Given the description of an element on the screen output the (x, y) to click on. 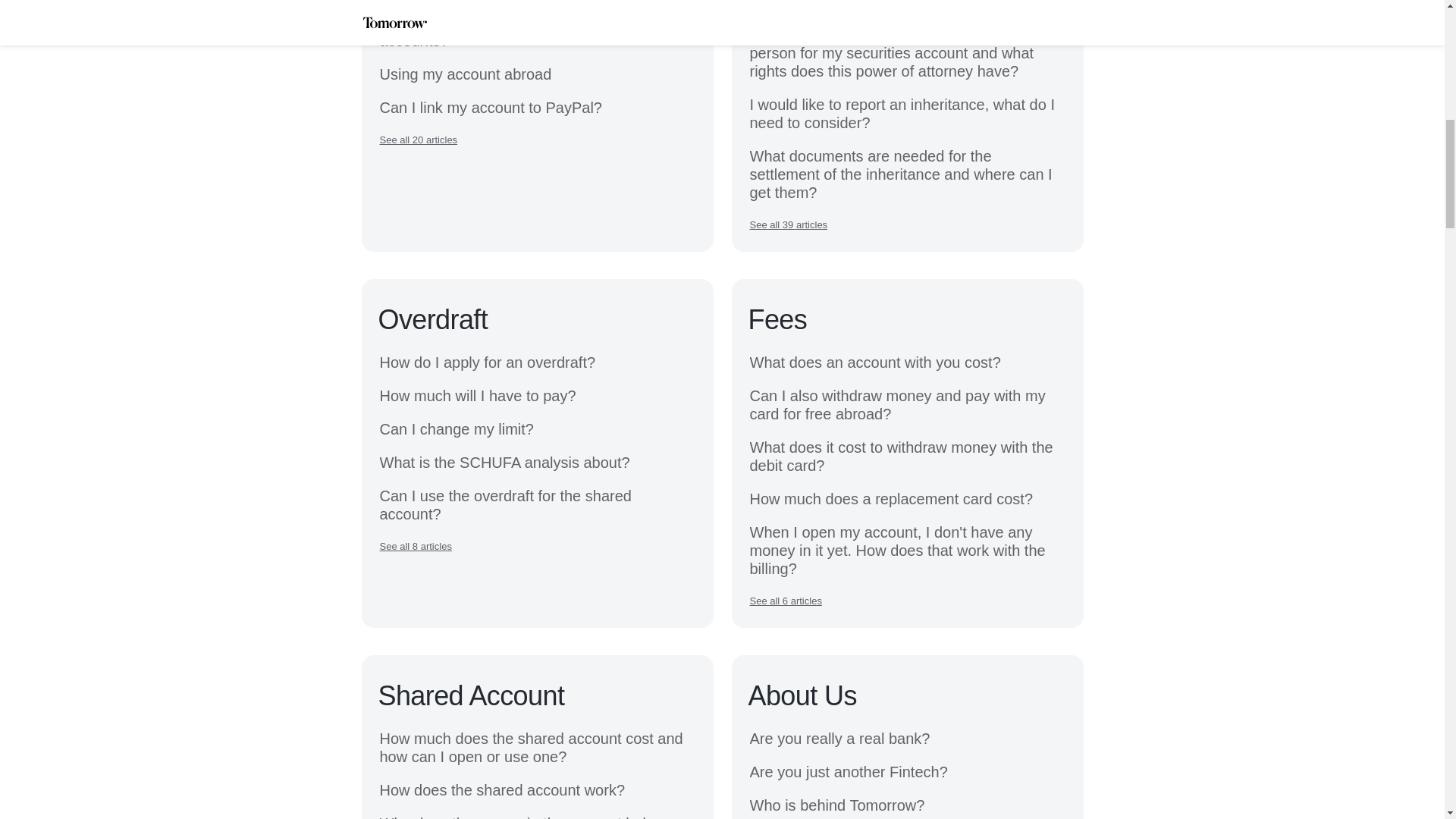
Can I link my account to PayPal? (489, 107)
About Us (802, 695)
Fees (777, 319)
Do you also offer business or freelancer accounts? (536, 31)
Using my account abroad (464, 74)
Overdraft (432, 319)
Shared Account (470, 695)
